Given the description of an element on the screen output the (x, y) to click on. 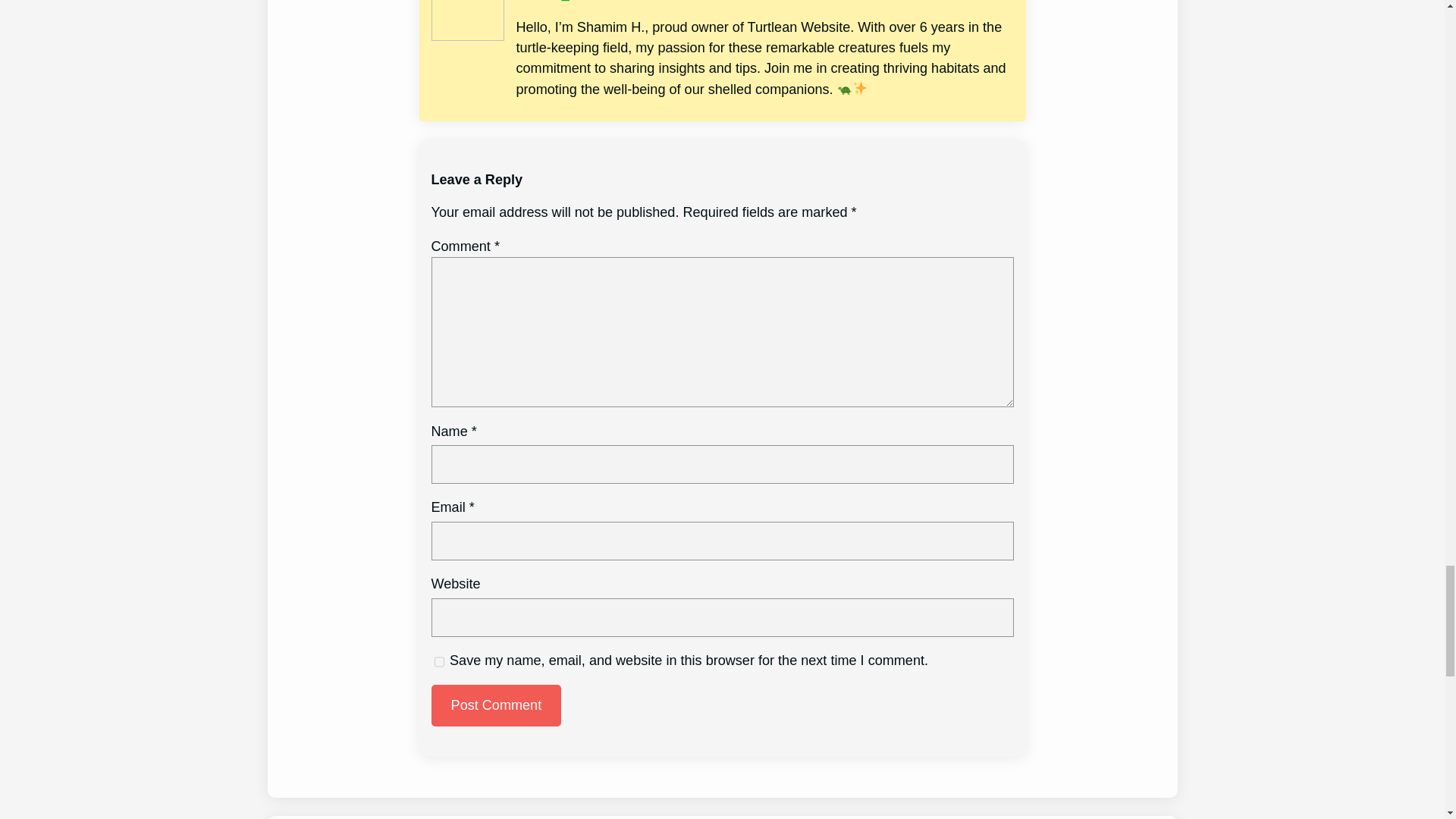
Post Comment (495, 705)
Post Comment (495, 705)
